Given the description of an element on the screen output the (x, y) to click on. 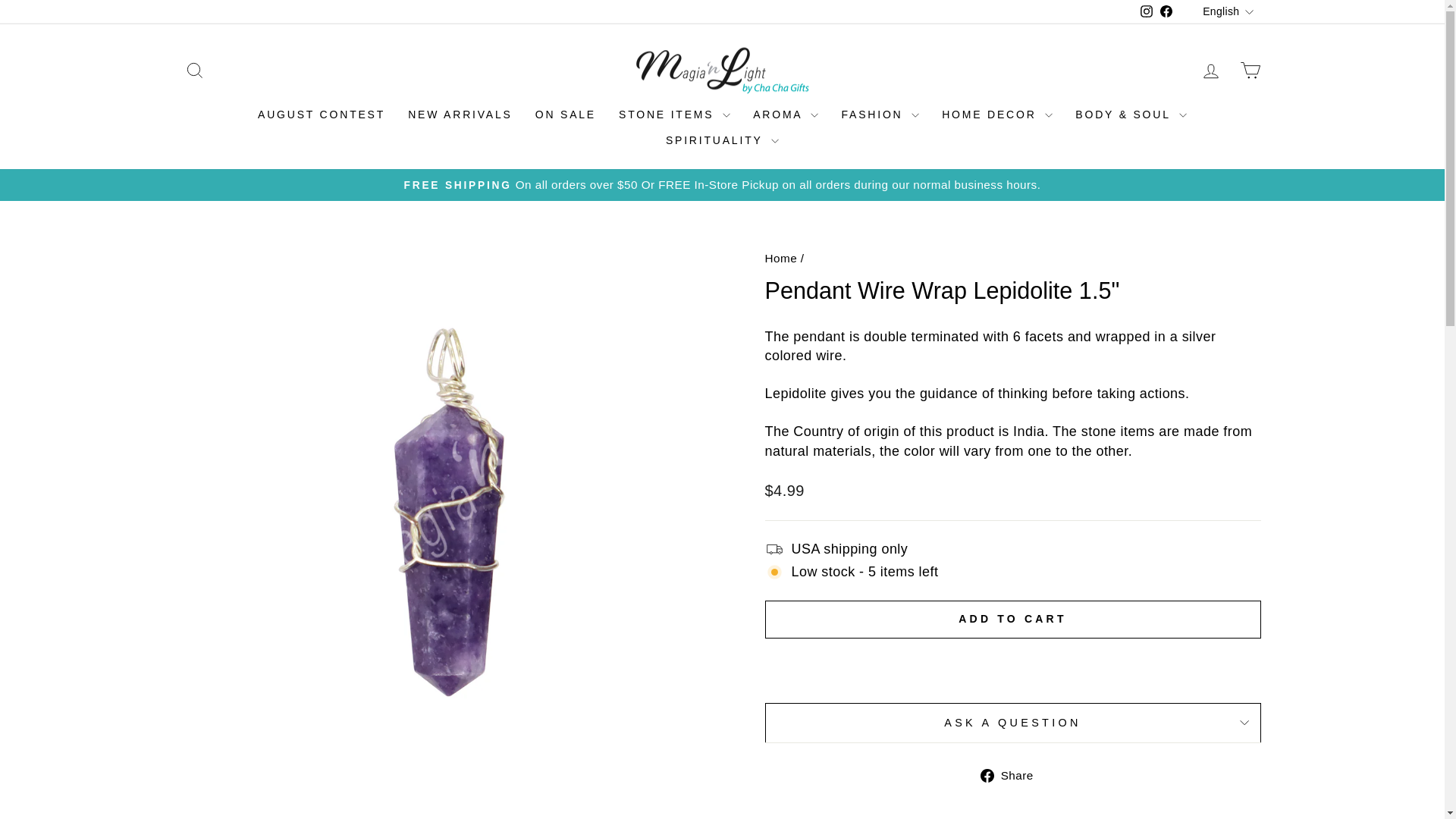
instagram (1146, 10)
Back to the frontpage (780, 257)
ACCOUNT (1210, 70)
ICON-SEARCH (194, 70)
Share on Facebook (1012, 774)
